Given the description of an element on the screen output the (x, y) to click on. 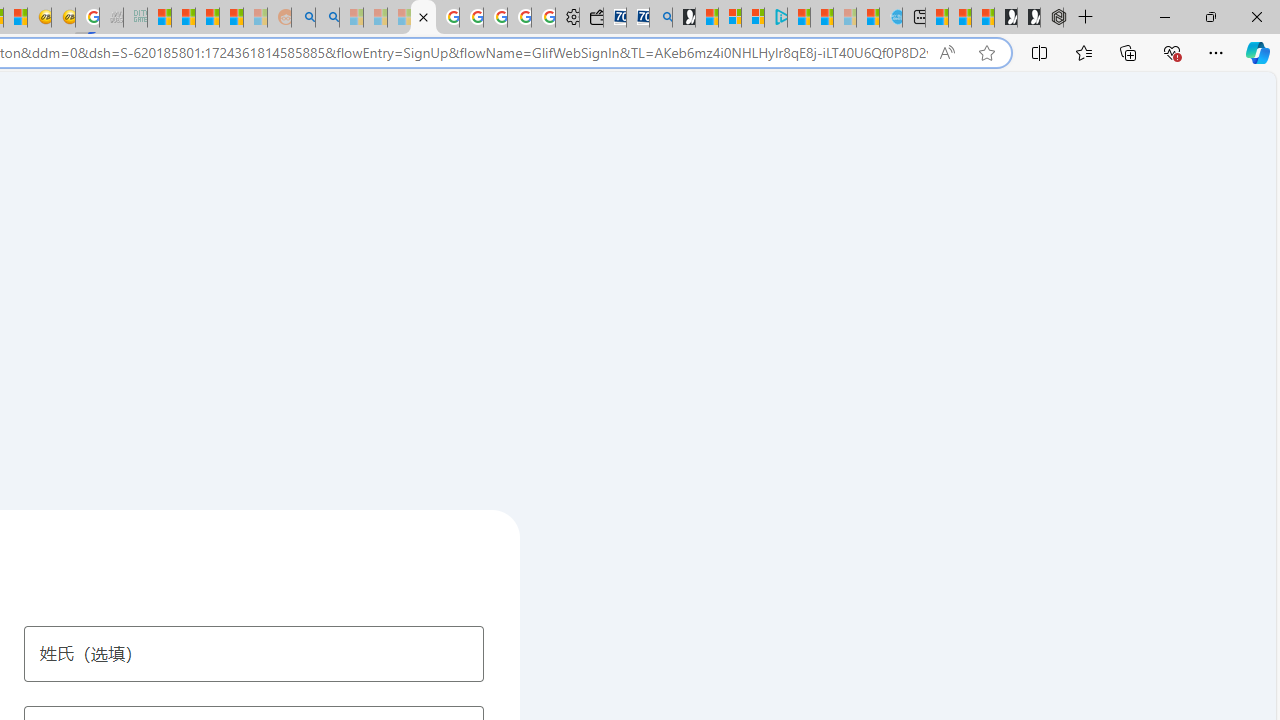
Utah sues federal government - Search (327, 17)
